Given the description of an element on the screen output the (x, y) to click on. 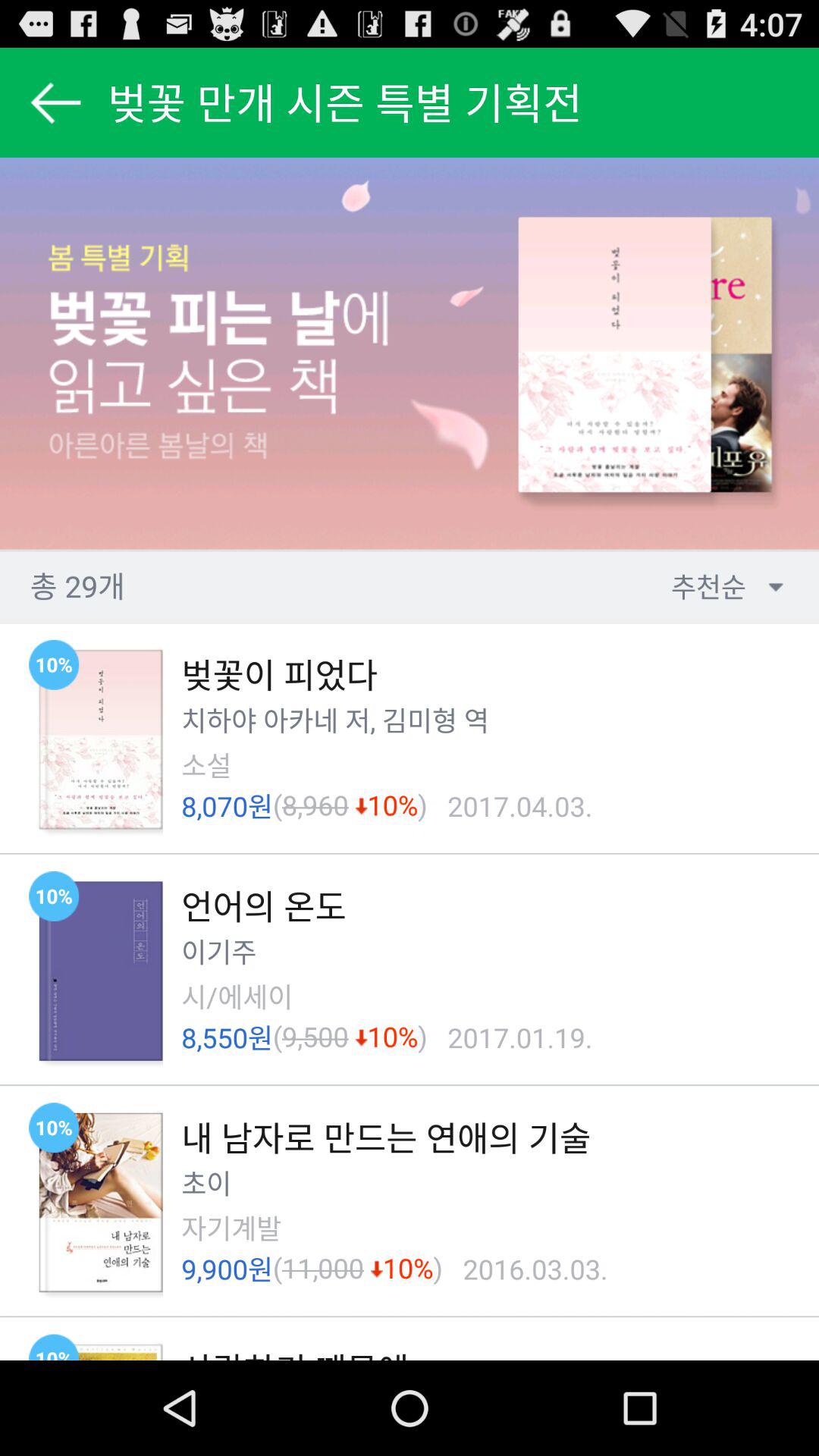
open the icon to the left of ,  icon (354, 719)
